Given the description of an element on the screen output the (x, y) to click on. 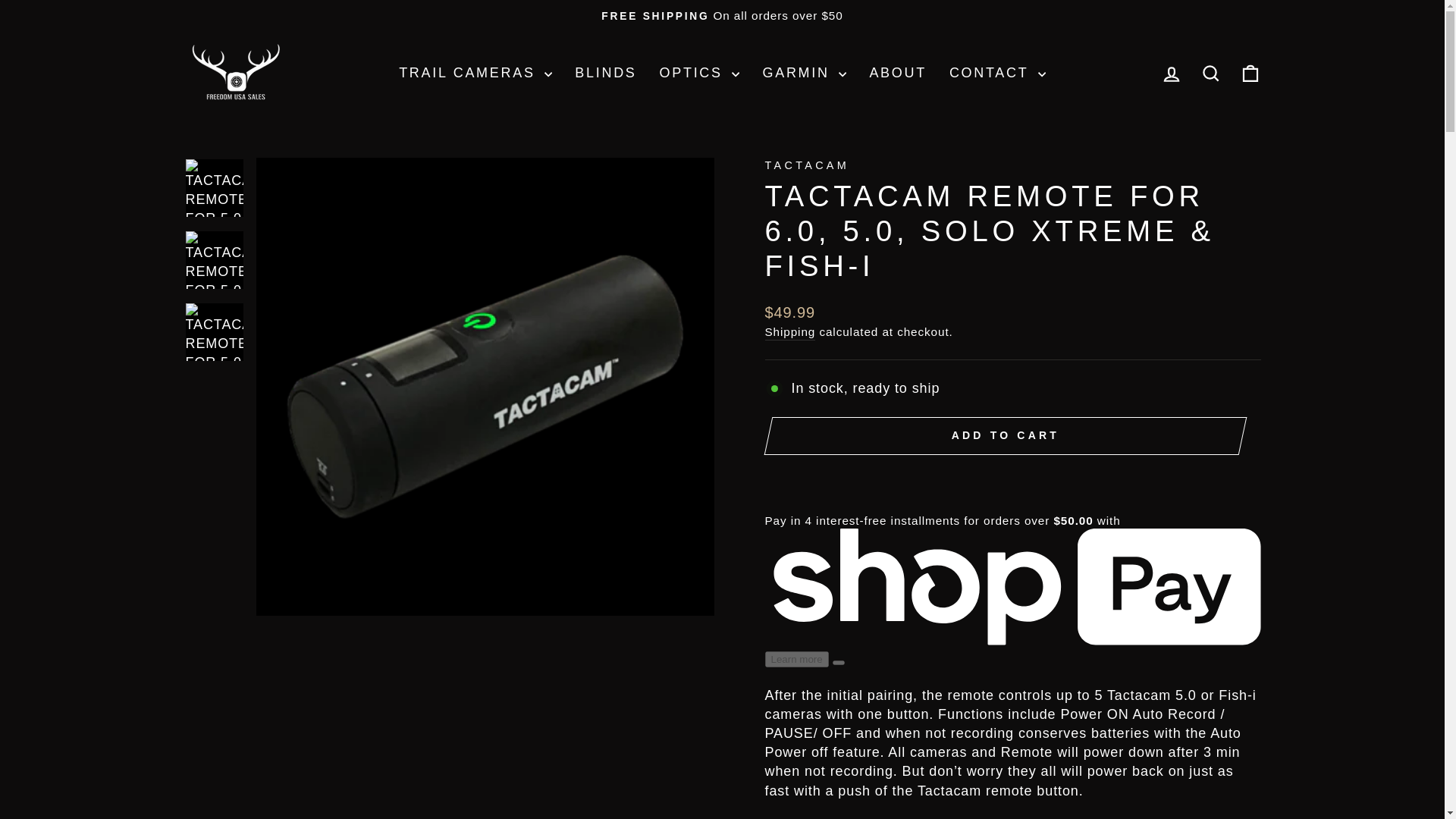
ICON-BAG-MINIMAL (1249, 73)
ICON-SEARCH (1210, 73)
ACCOUNT (1170, 74)
TACTACAM (806, 164)
